Given the description of an element on the screen output the (x, y) to click on. 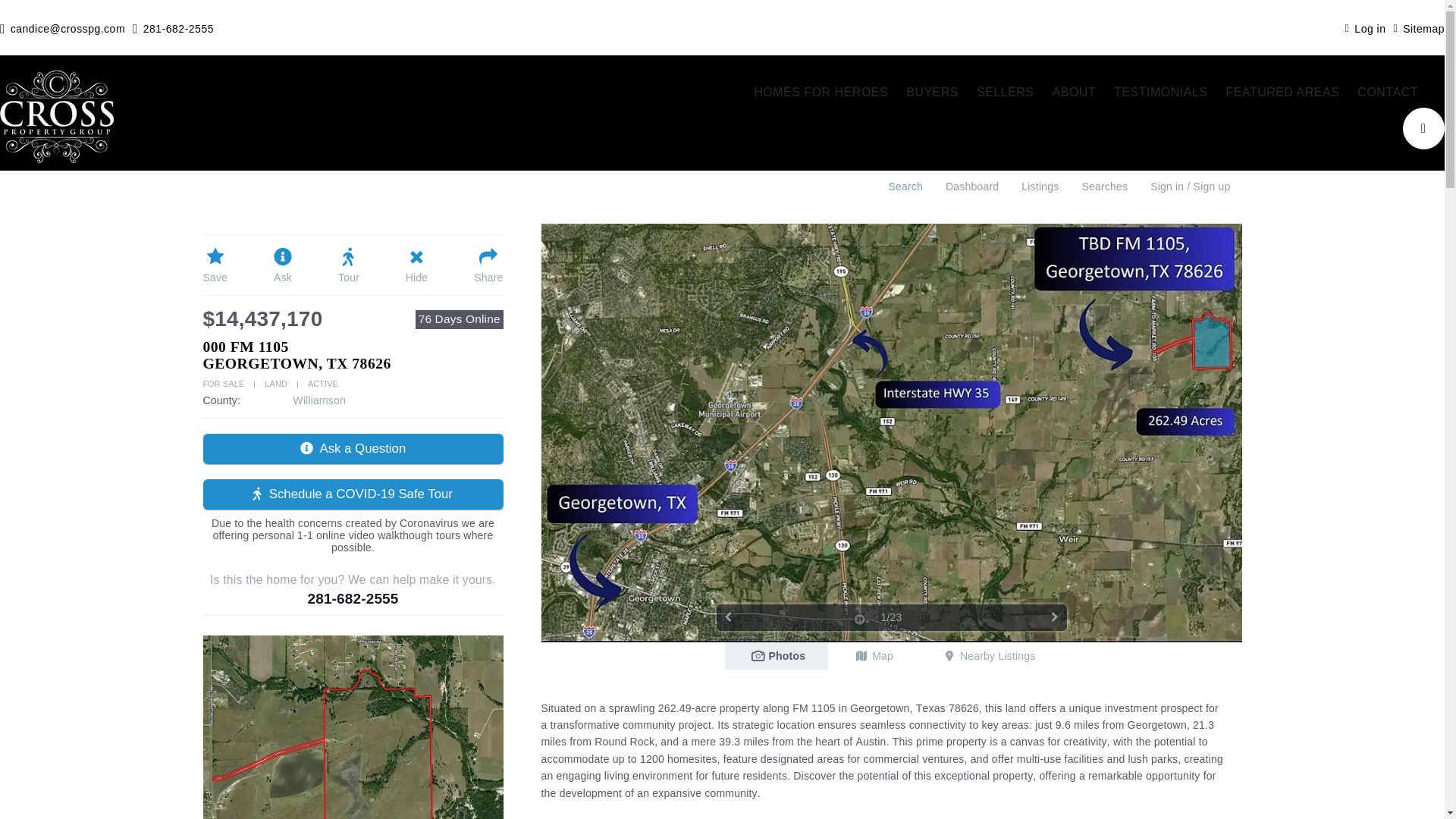
Sitemap (1418, 27)
SELLERS (1005, 92)
CONTACT (1387, 92)
281-682-2555 (173, 27)
BUTTON ICON (1423, 128)
BUYERS (932, 92)
HOMES FOR HEROES (820, 92)
TESTIMONIALS (1160, 92)
Log in (1365, 27)
ABOUT (1074, 92)
FEATURED AREAS (1283, 92)
